Given the description of an element on the screen output the (x, y) to click on. 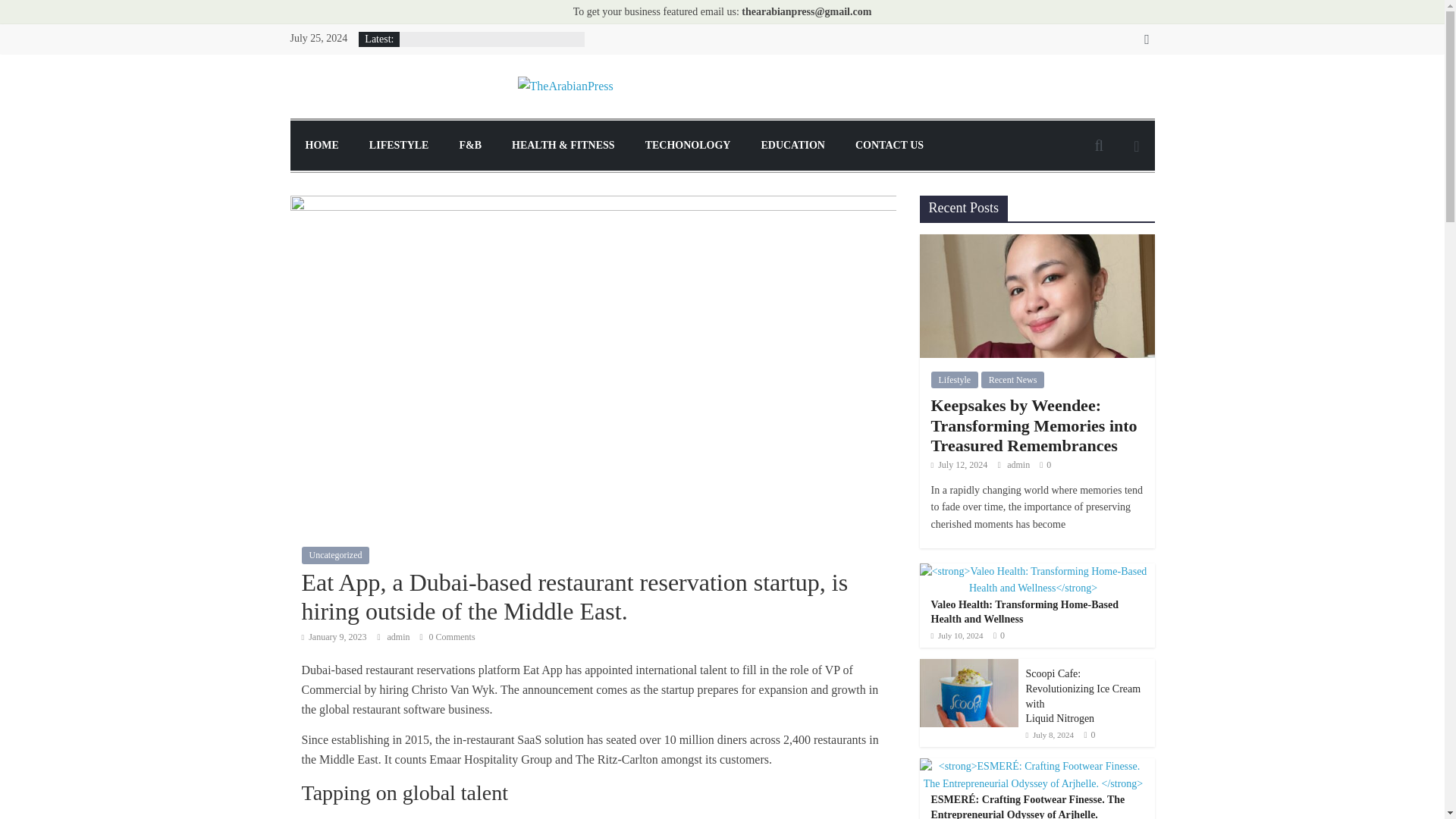
admin (399, 636)
TECHONOLOGY (687, 145)
January 9, 2023 (333, 636)
admin (399, 636)
HOME (321, 145)
View a random post (1136, 145)
CONTACT US (889, 145)
Uncategorized (335, 555)
EDUCATION (792, 145)
2:25 pm (333, 636)
LIFESTYLE (398, 145)
0 Comments (448, 636)
